Given the description of an element on the screen output the (x, y) to click on. 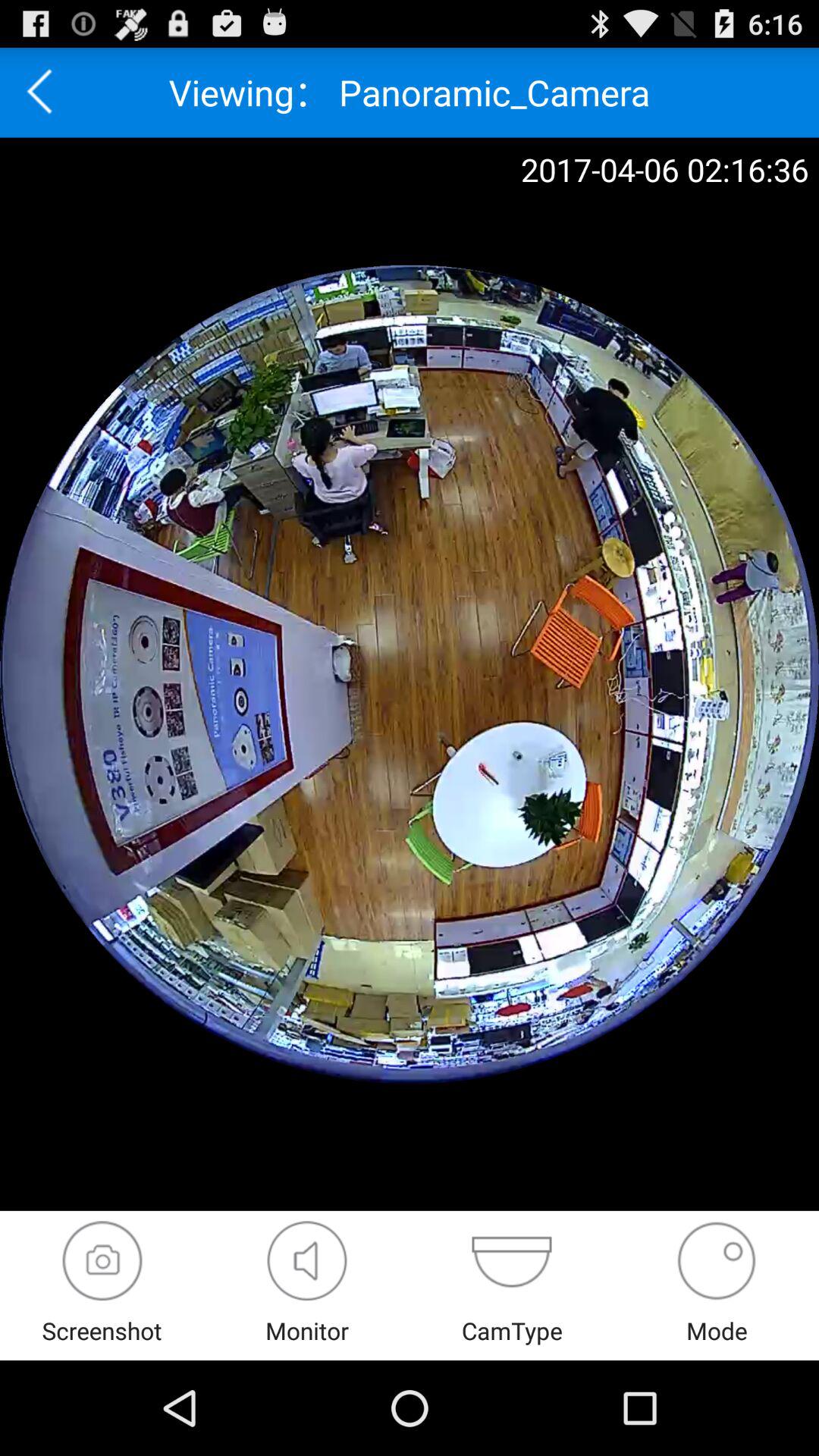
go back (44, 92)
